Given the description of an element on the screen output the (x, y) to click on. 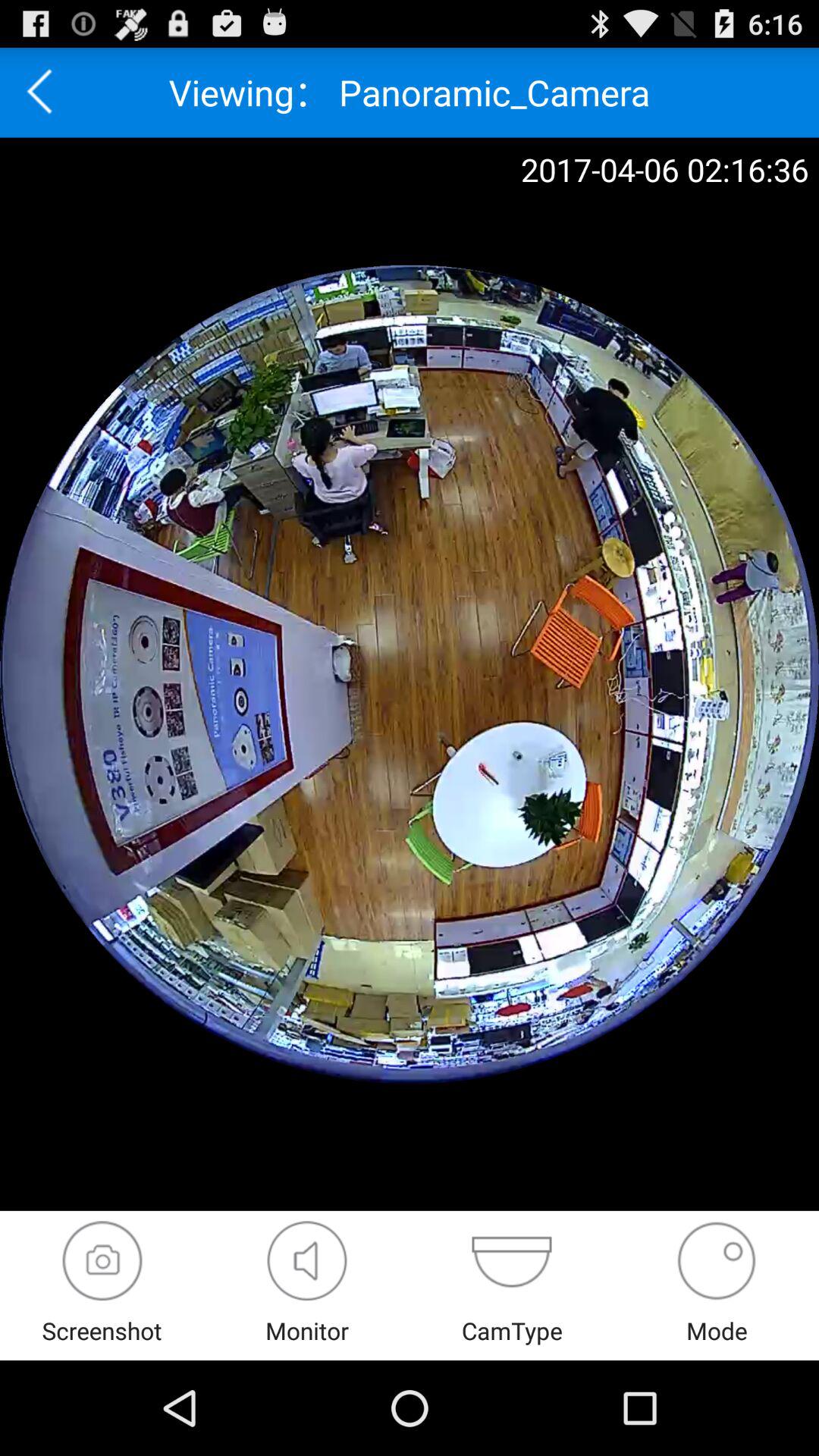
go back (44, 92)
